Given the description of an element on the screen output the (x, y) to click on. 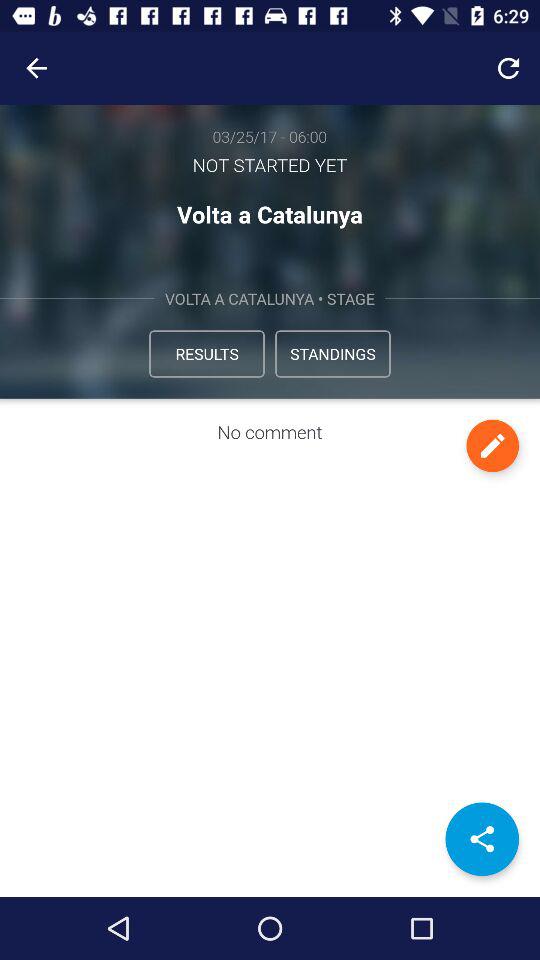
open the item at the bottom right corner (482, 839)
